Given the description of an element on the screen output the (x, y) to click on. 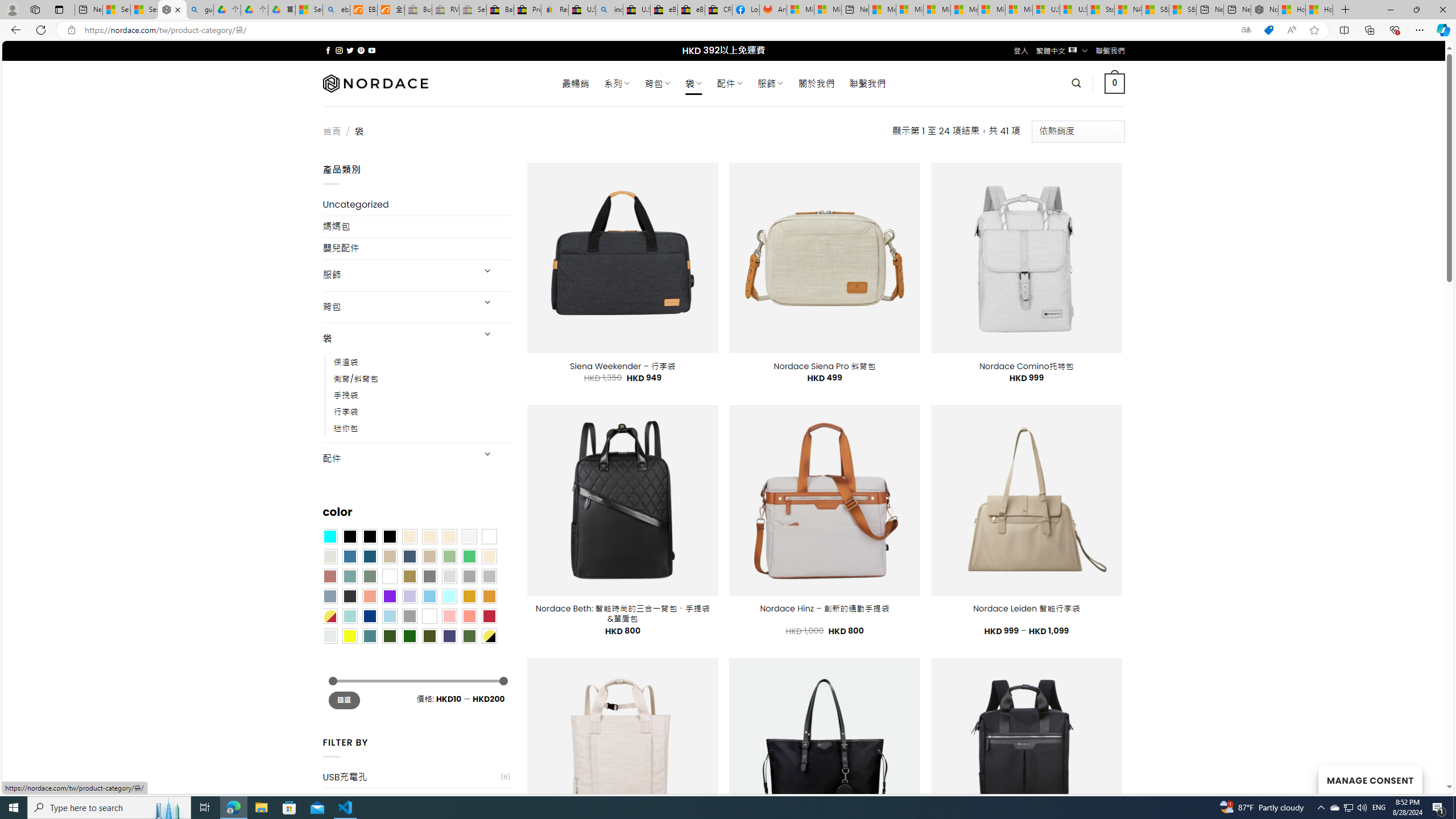
Dull Nickle (329, 635)
Show translate options (1245, 29)
Microsoft account | Home (936, 9)
Sell worldwide with eBay - Sleeping (473, 9)
